Given the description of an element on the screen output the (x, y) to click on. 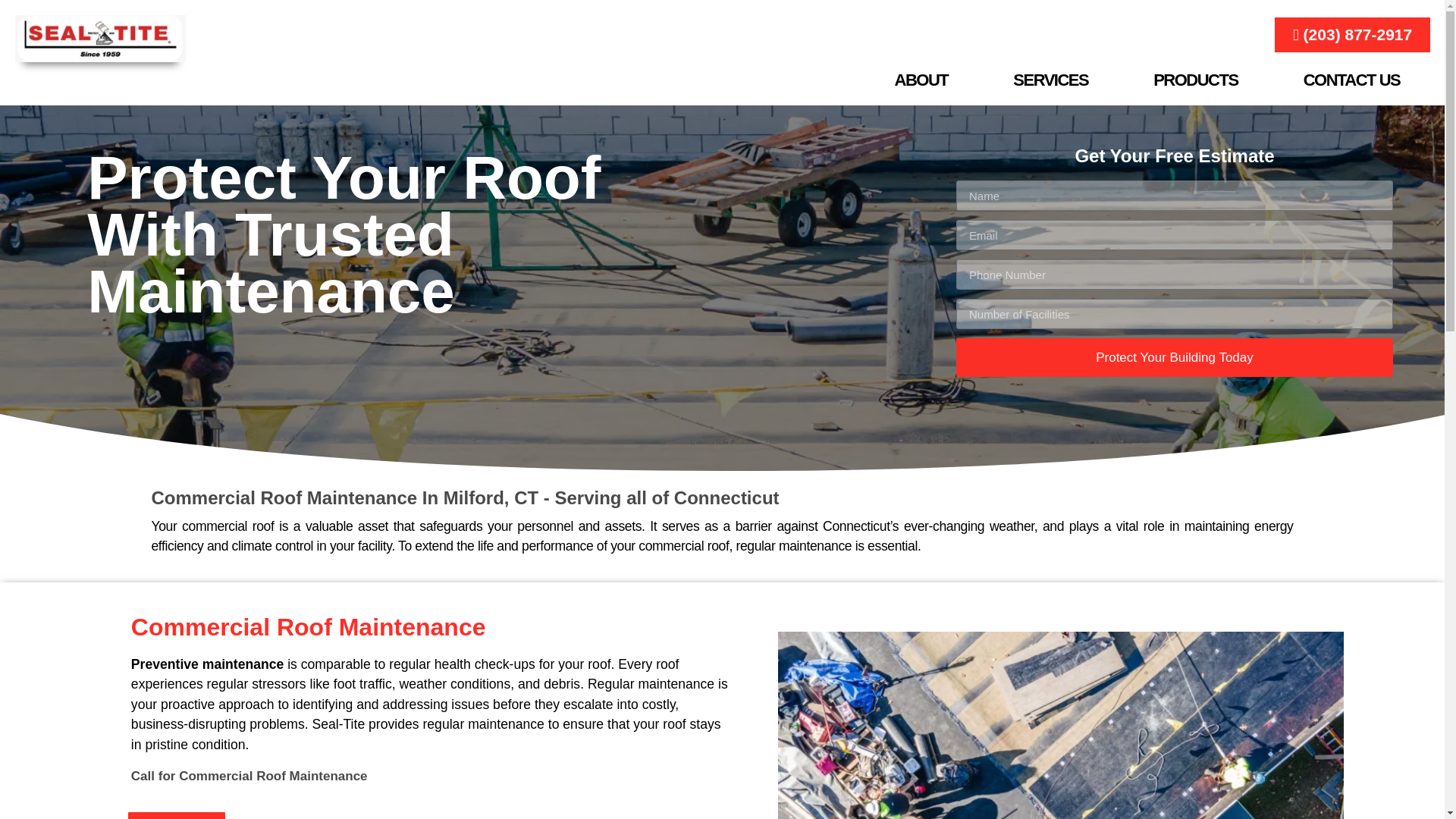
ABOUT (921, 79)
CONTACT US (1351, 79)
PRODUCTS (1195, 79)
Protect Your Building Today (1174, 357)
Call Us (176, 814)
SERVICES (1050, 79)
